Given the description of an element on the screen output the (x, y) to click on. 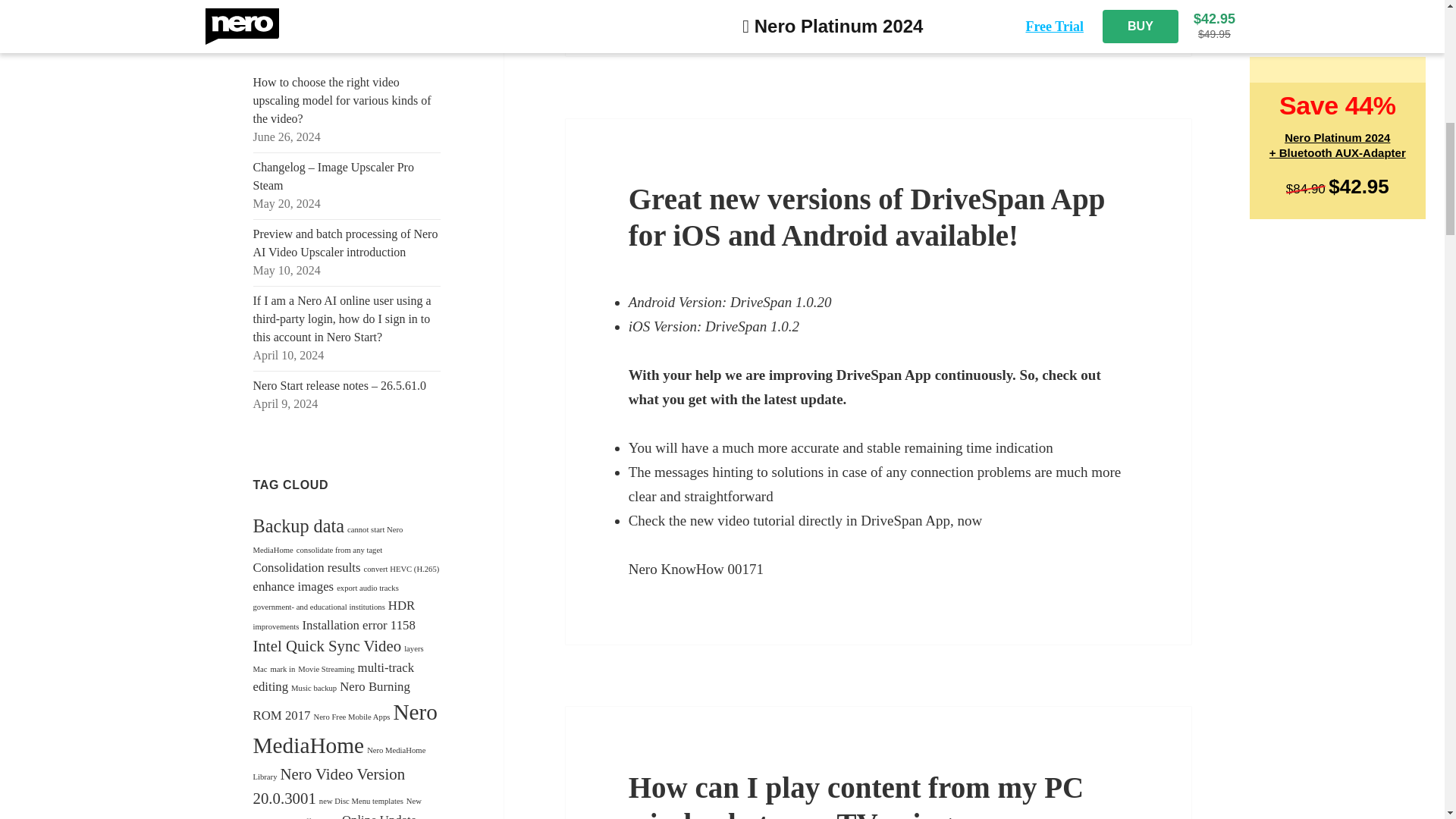
consolidate from any taget (339, 550)
improvements (276, 625)
multi-track editing (333, 676)
Nero Free Mobile Apps (351, 716)
HDR (401, 605)
mark in (282, 669)
Installation error 1158 (357, 624)
layers (413, 648)
Backup data (298, 525)
Mac (260, 669)
government- and educational institutions (319, 606)
Consolidation results (307, 567)
